Given the description of an element on the screen output the (x, y) to click on. 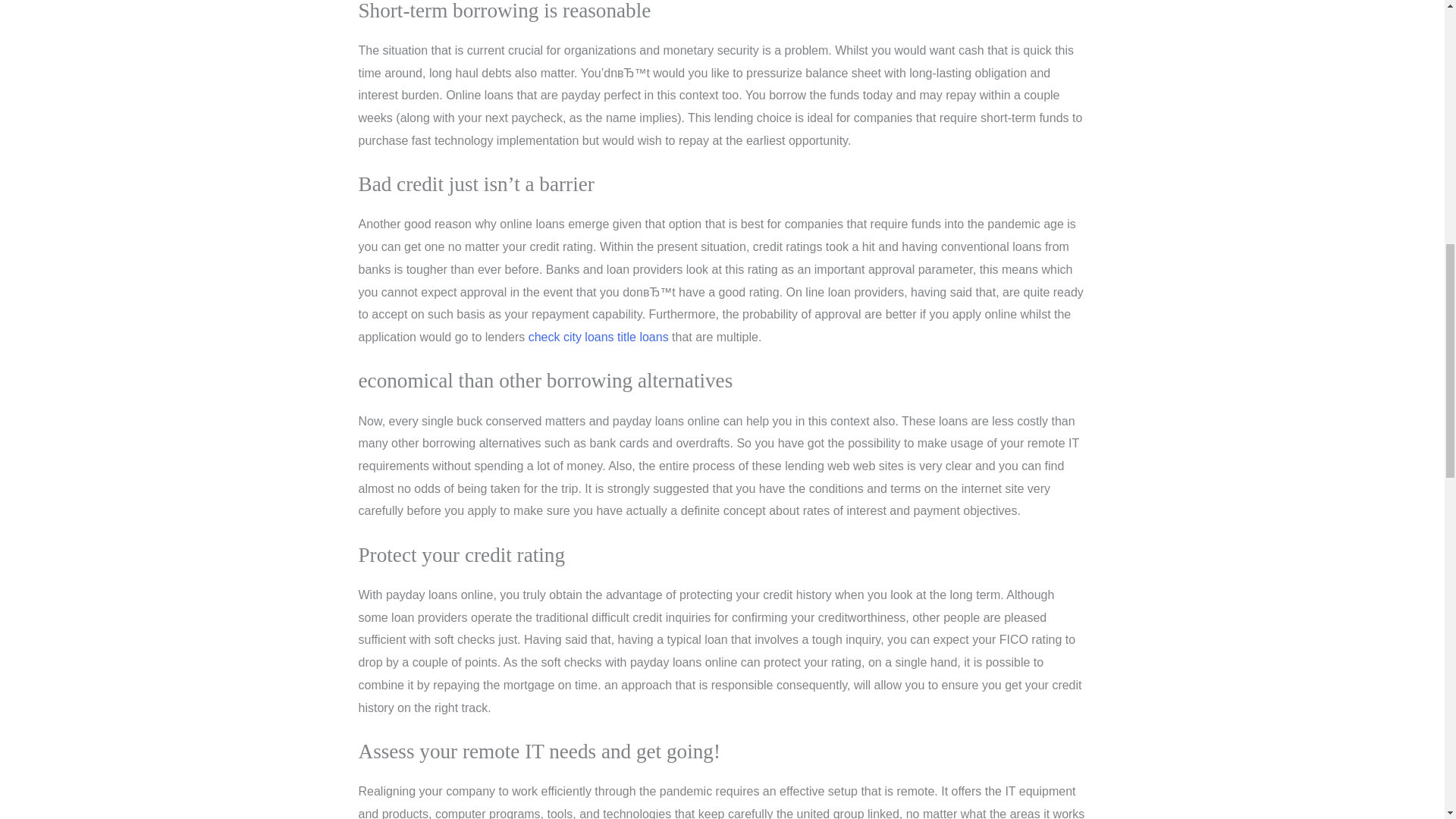
check city loans title loans (598, 336)
